Given the description of an element on the screen output the (x, y) to click on. 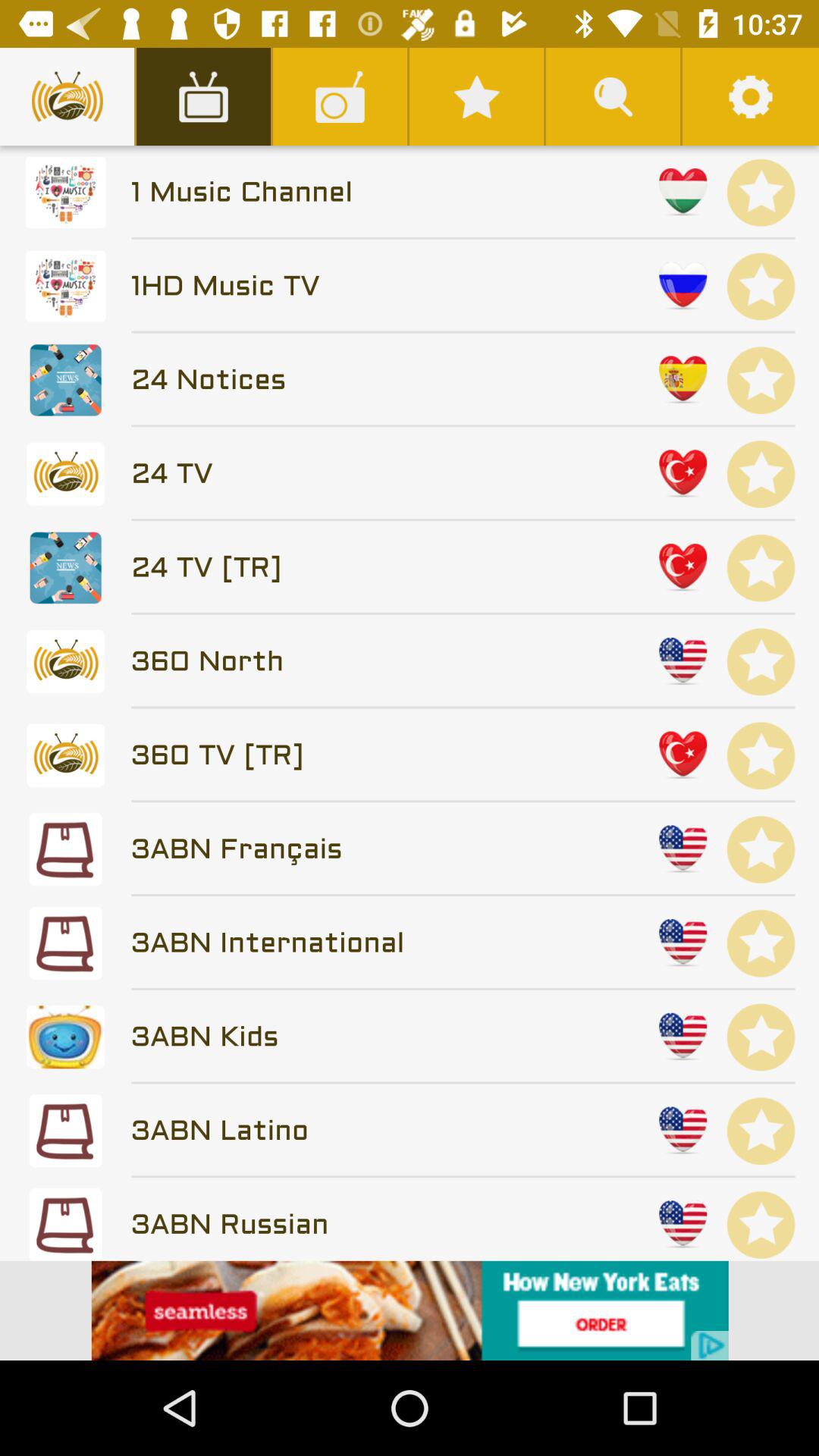
click to view seamless website (409, 1310)
